Given the description of an element on the screen output the (x, y) to click on. 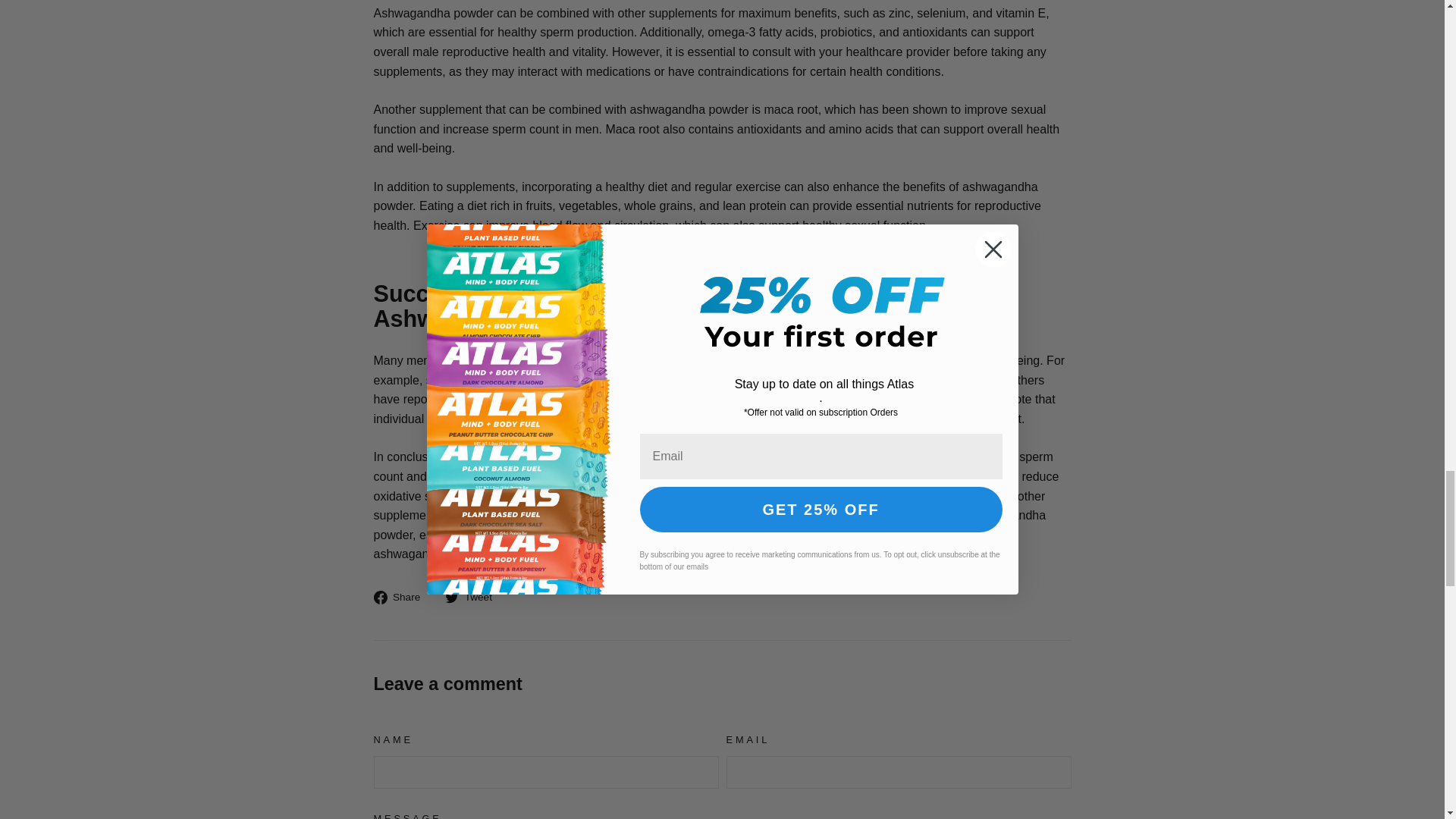
Tweet on Twitter (474, 596)
twitter (474, 596)
Share on Facebook (401, 596)
